Given the description of an element on the screen output the (x, y) to click on. 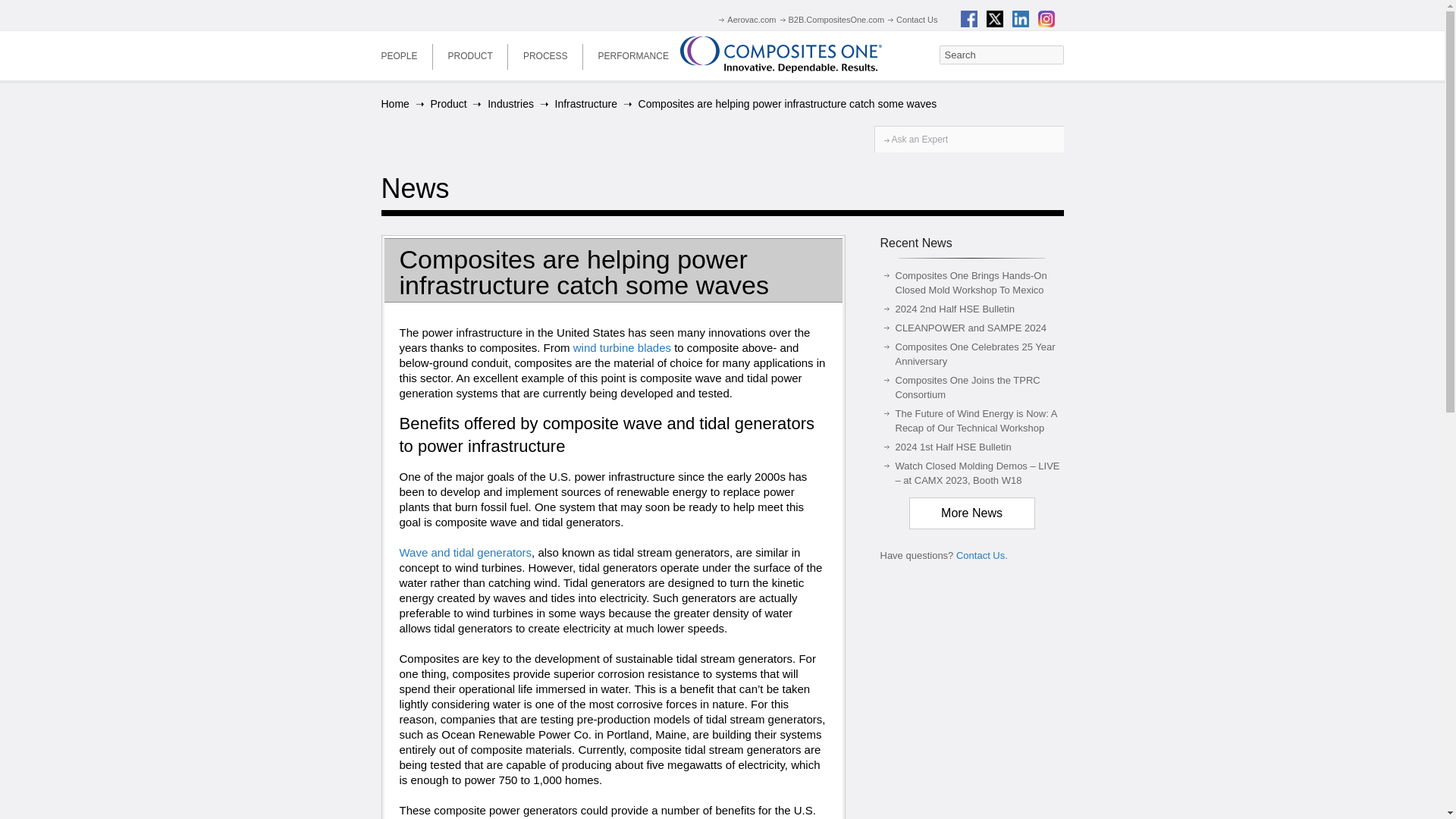
Contact Us (910, 19)
Go to Composites One. (394, 103)
PEOPLE (398, 55)
PROCESS (545, 55)
Go to the Product Category archives. (447, 103)
Go to the Industries Category archives. (510, 103)
Search (1000, 54)
Composites One (780, 54)
B2B.CompositesOne.com (830, 19)
Go to the Infrastructure Category archives. (585, 103)
